Given the description of an element on the screen output the (x, y) to click on. 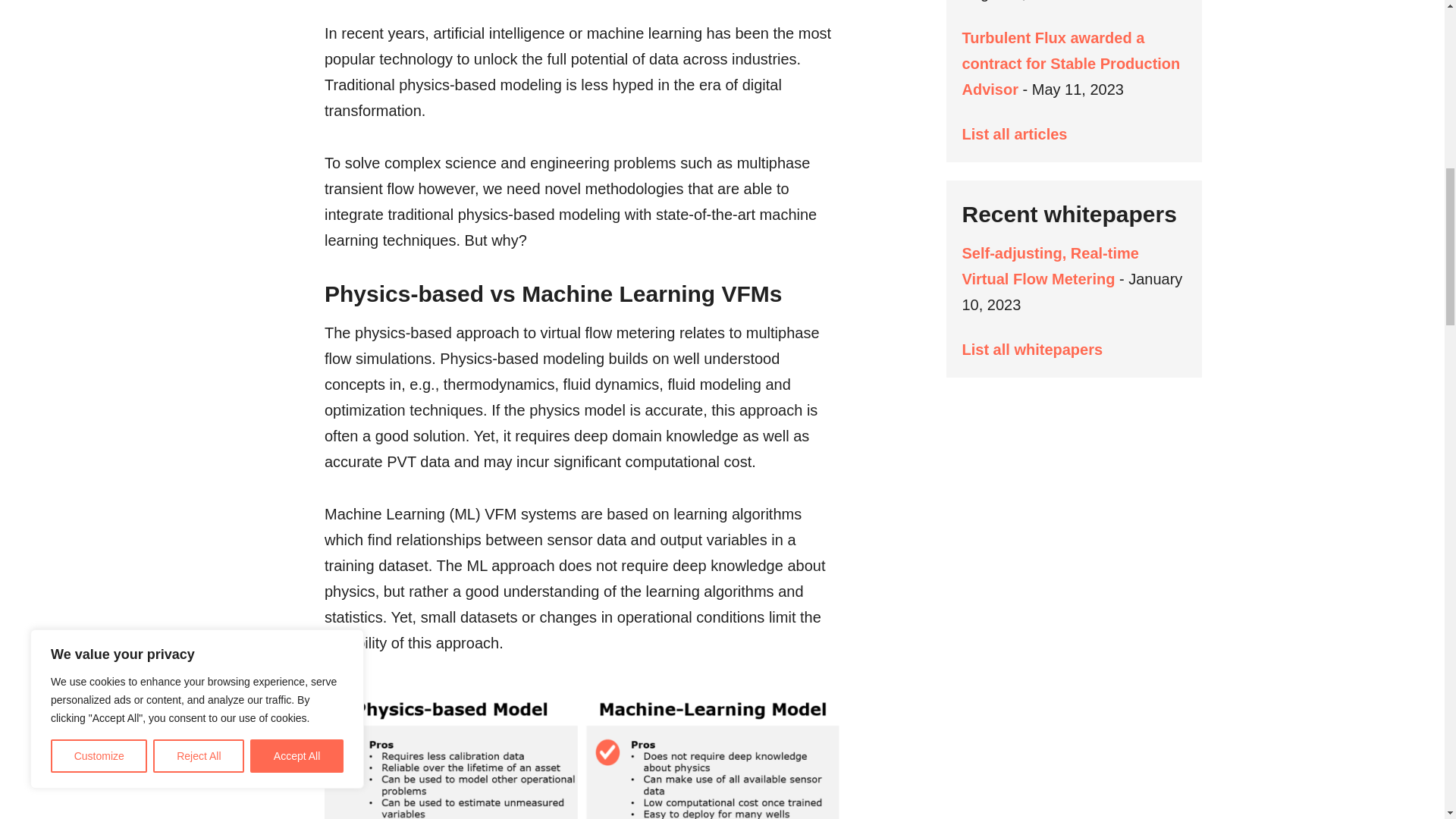
Comparison Physics-based vs Machine-learning models (582, 756)
August 2, 2023 (1012, 0)
